Given the description of an element on the screen output the (x, y) to click on. 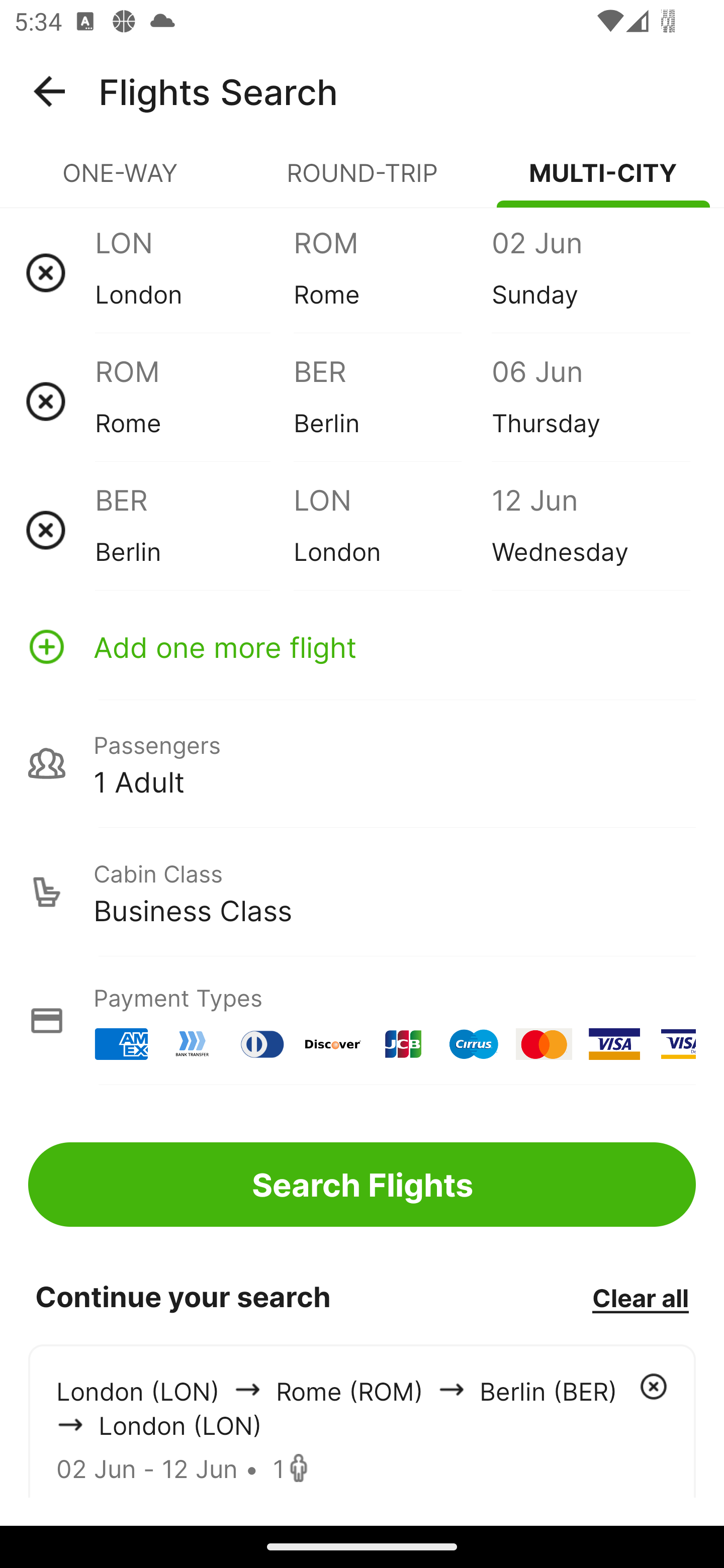
ONE-WAY (120, 180)
ROUND-TRIP (361, 180)
MULTI-CITY (603, 180)
LON London (193, 272)
ROM Rome (392, 272)
02 Jun Sunday (590, 272)
ROM Rome (193, 401)
BER Berlin (392, 401)
06 Jun Thursday (590, 401)
BER Berlin (193, 529)
LON London (392, 529)
12 Jun Wednesday (590, 529)
Add one more flight (362, 646)
Passengers 1 Adult (362, 762)
Cabin Class Business Class (362, 891)
Payment Types (362, 1020)
